Given the description of an element on the screen output the (x, y) to click on. 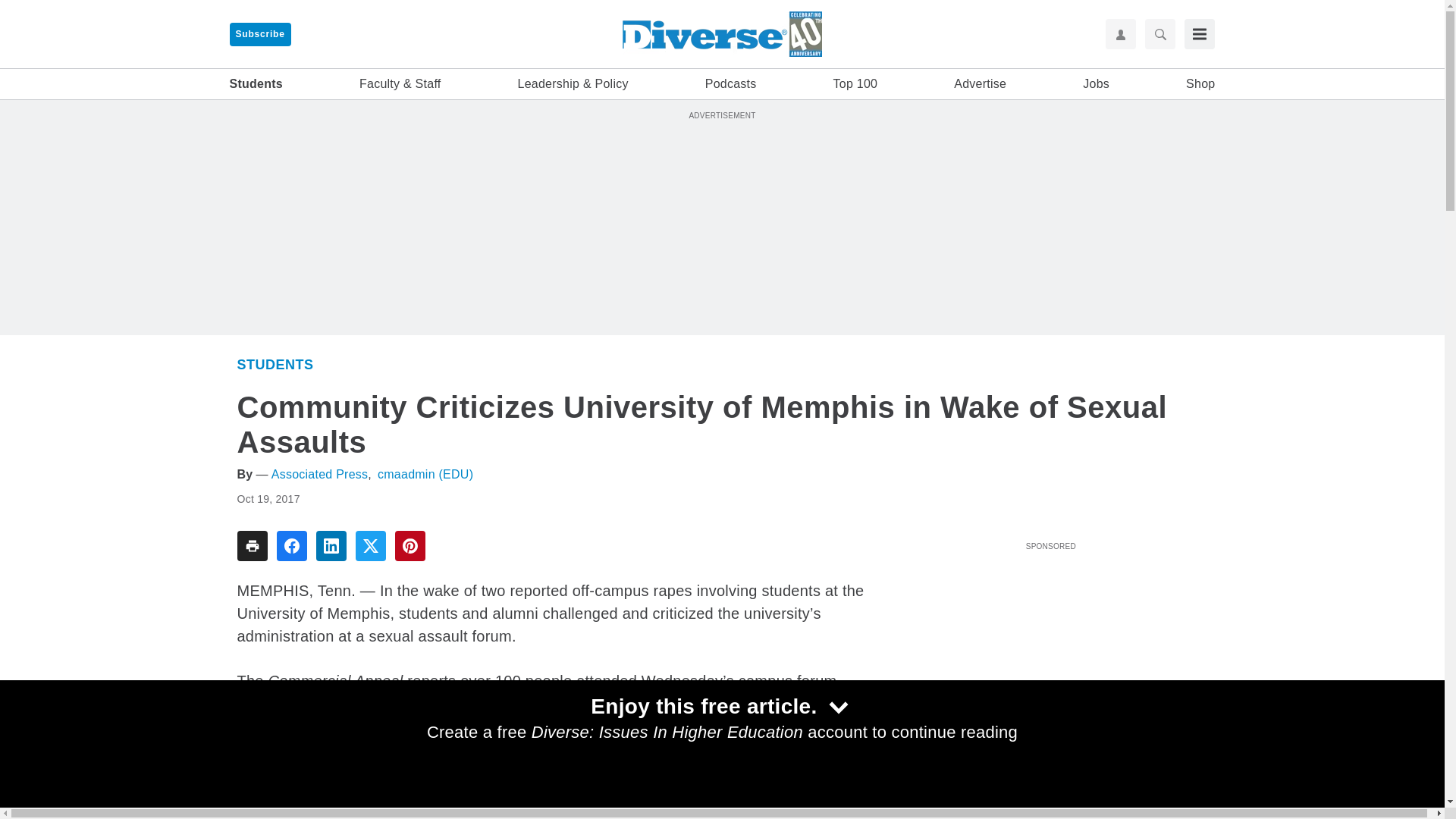
Share To twitter (370, 545)
Podcasts (730, 84)
Share To facebook (290, 545)
Top 100 (854, 84)
Students (274, 364)
Advertise (979, 84)
Students (255, 84)
Share To pinterest (409, 545)
Jobs (1096, 84)
Share To print (250, 545)
Share To linkedin (330, 545)
Subscribe (258, 33)
Shop (1200, 84)
Subscribe (258, 33)
